Given the description of an element on the screen output the (x, y) to click on. 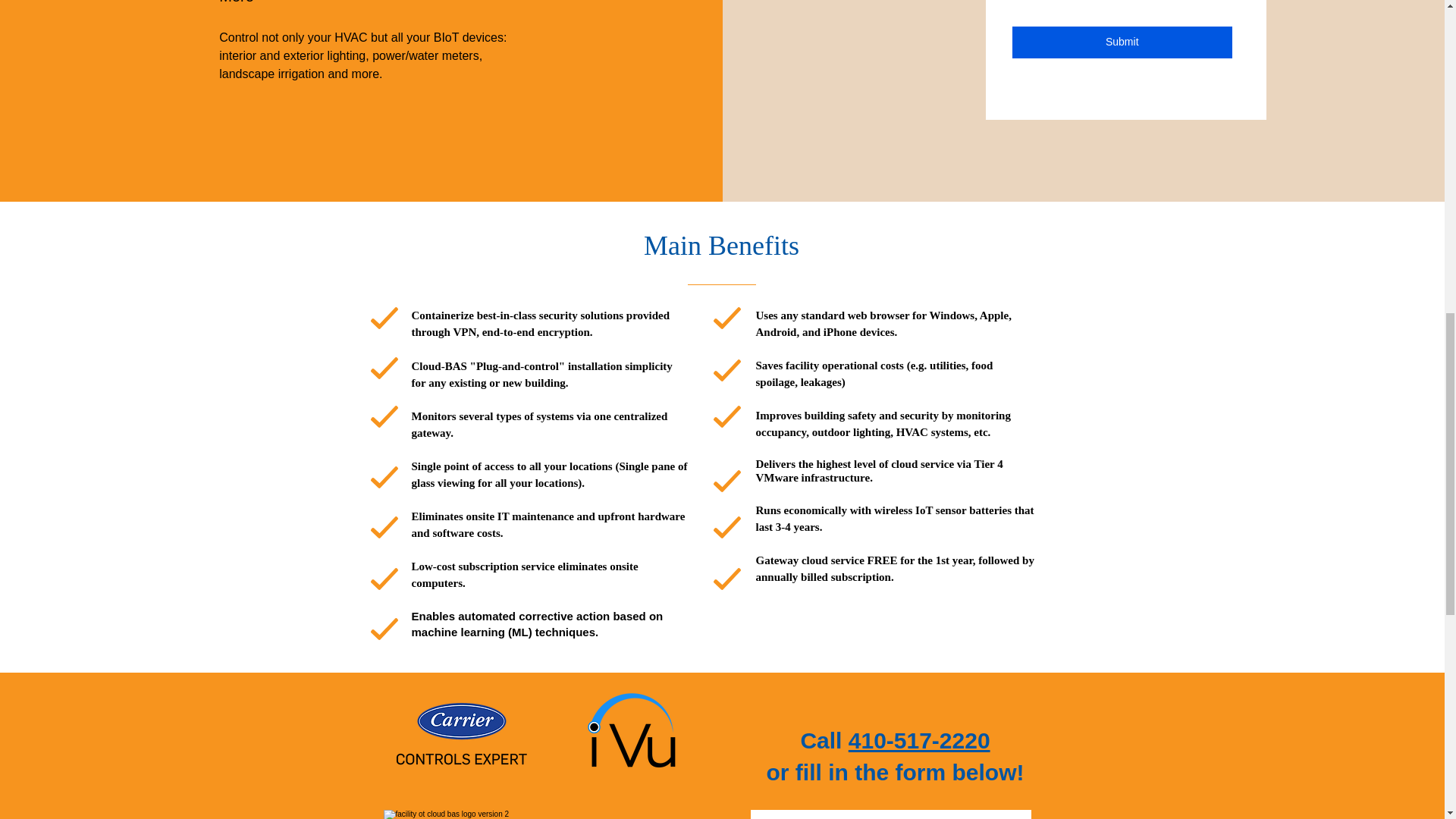
410-517-2220 (919, 740)
facility ot logo padding.png (549, 814)
Submit (1121, 42)
